Given the description of an element on the screen output the (x, y) to click on. 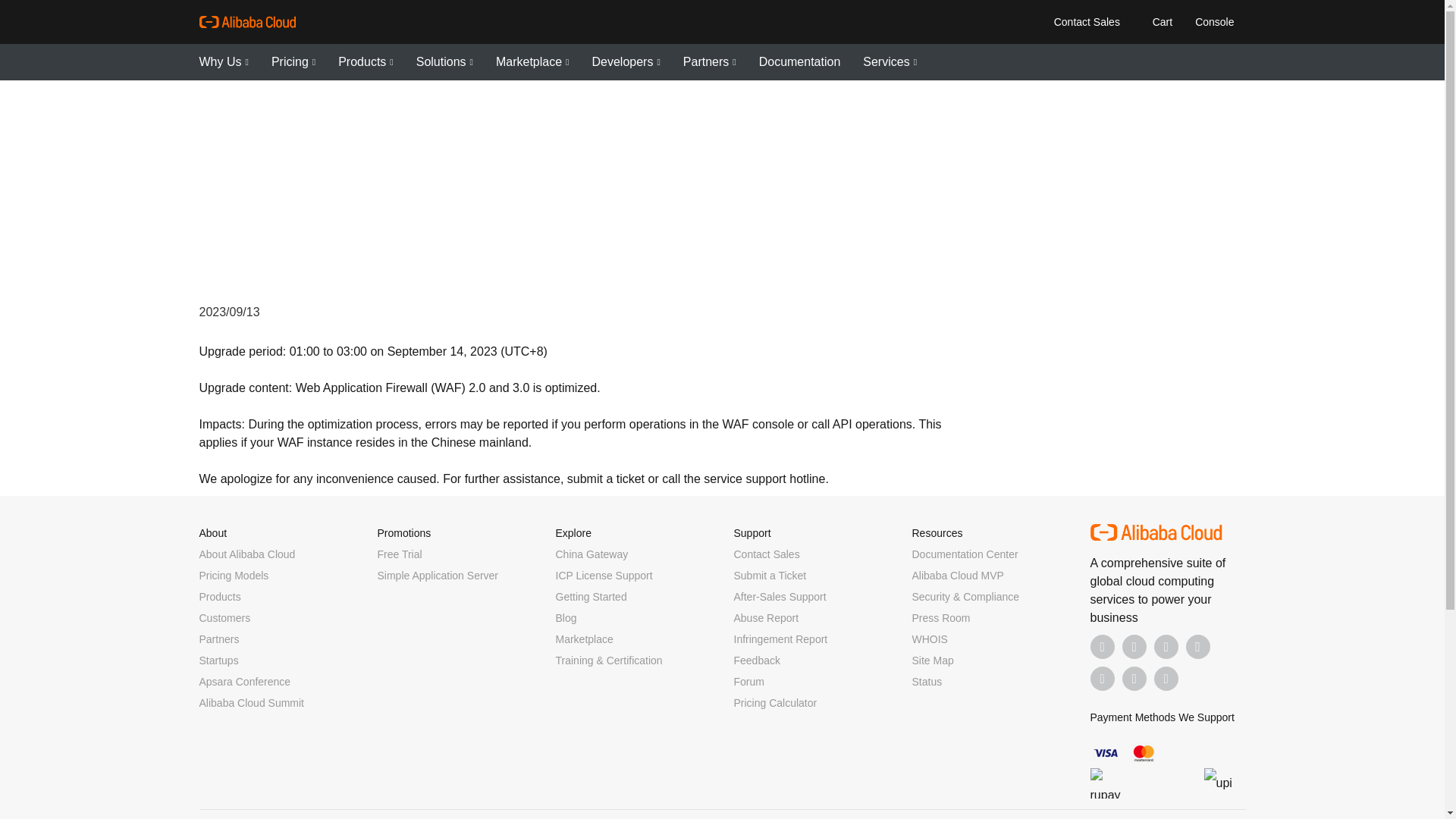
Marketplace (532, 62)
YouTube (1197, 646)
Facebook (1102, 646)
Pricing (292, 62)
Services (890, 62)
Call Us Now (1165, 678)
Solutions (444, 62)
  Cart (1159, 22)
TikTok (1102, 678)
Documentation (799, 62)
Products (365, 62)
Why Us (222, 62)
Linkedin (1134, 646)
Contact Sales (1086, 22)
Alibaba Cloud (246, 22)
